Given the description of an element on the screen output the (x, y) to click on. 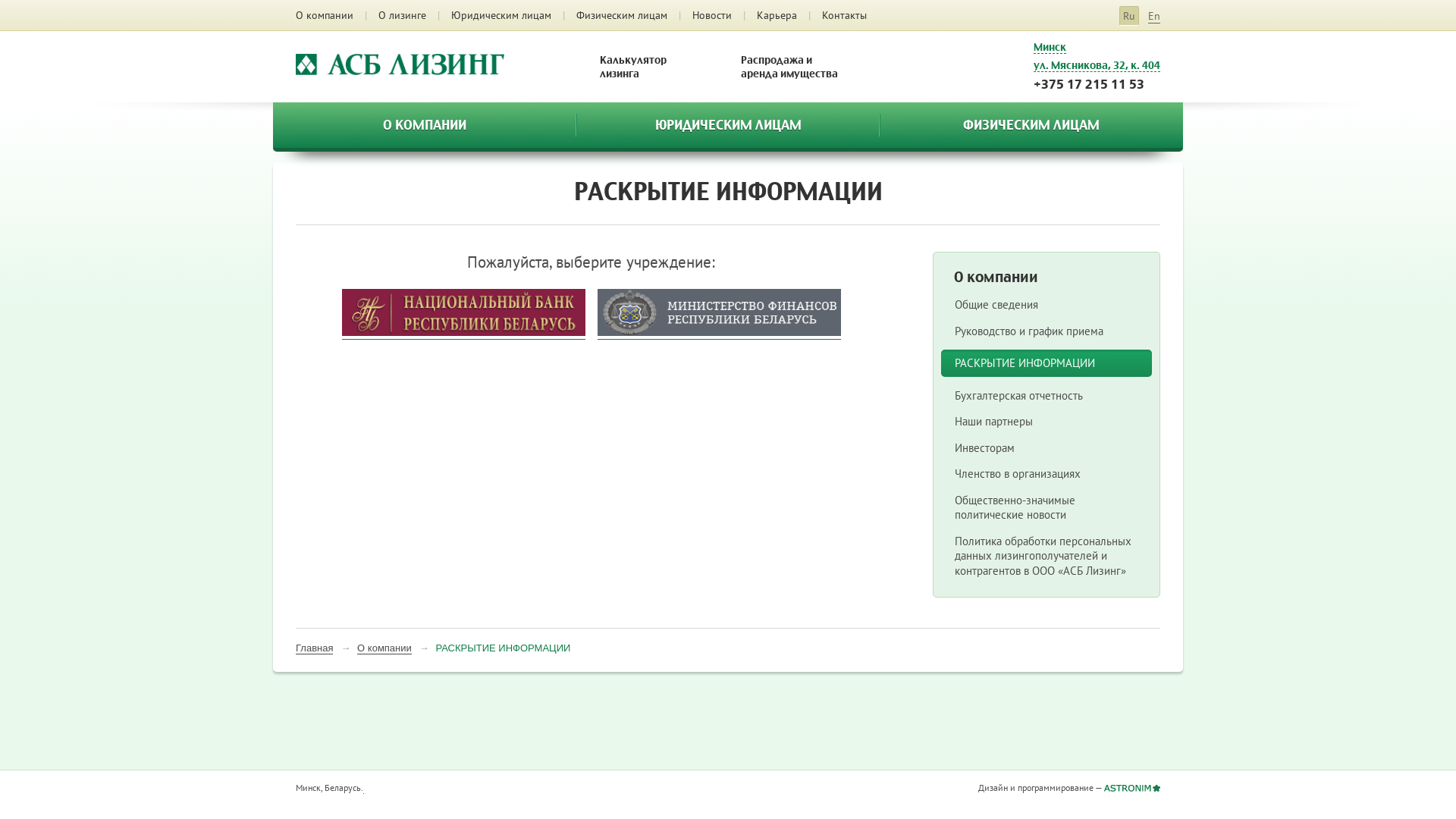
Ru Element type: text (1129, 15)
LiveInternet Element type: hover (363, 790)
En Element type: text (1154, 16)
